Given the description of an element on the screen output the (x, y) to click on. 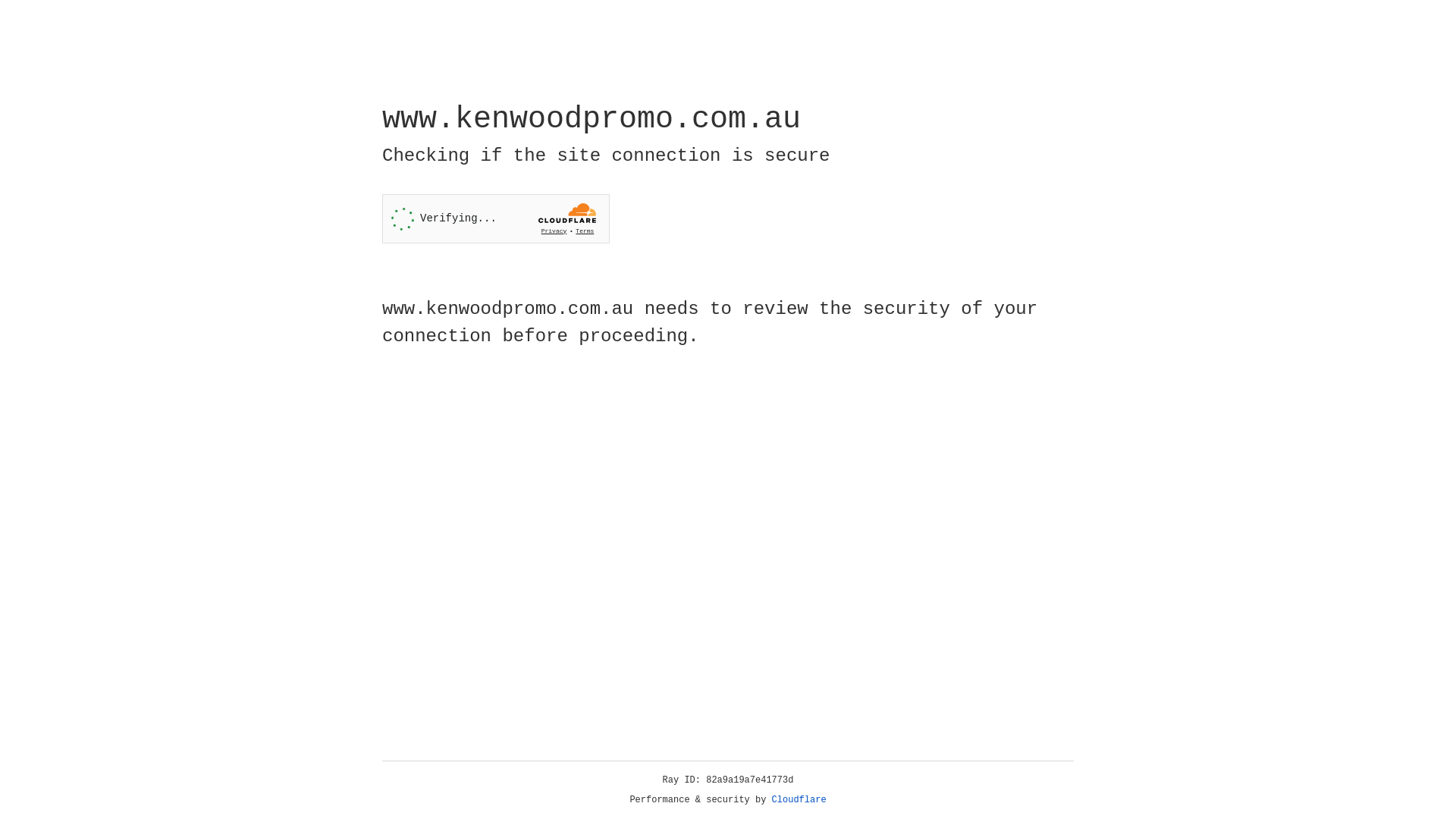
Widget containing a Cloudflare security challenge Element type: hover (495, 218)
Cloudflare Element type: text (798, 799)
